Given the description of an element on the screen output the (x, y) to click on. 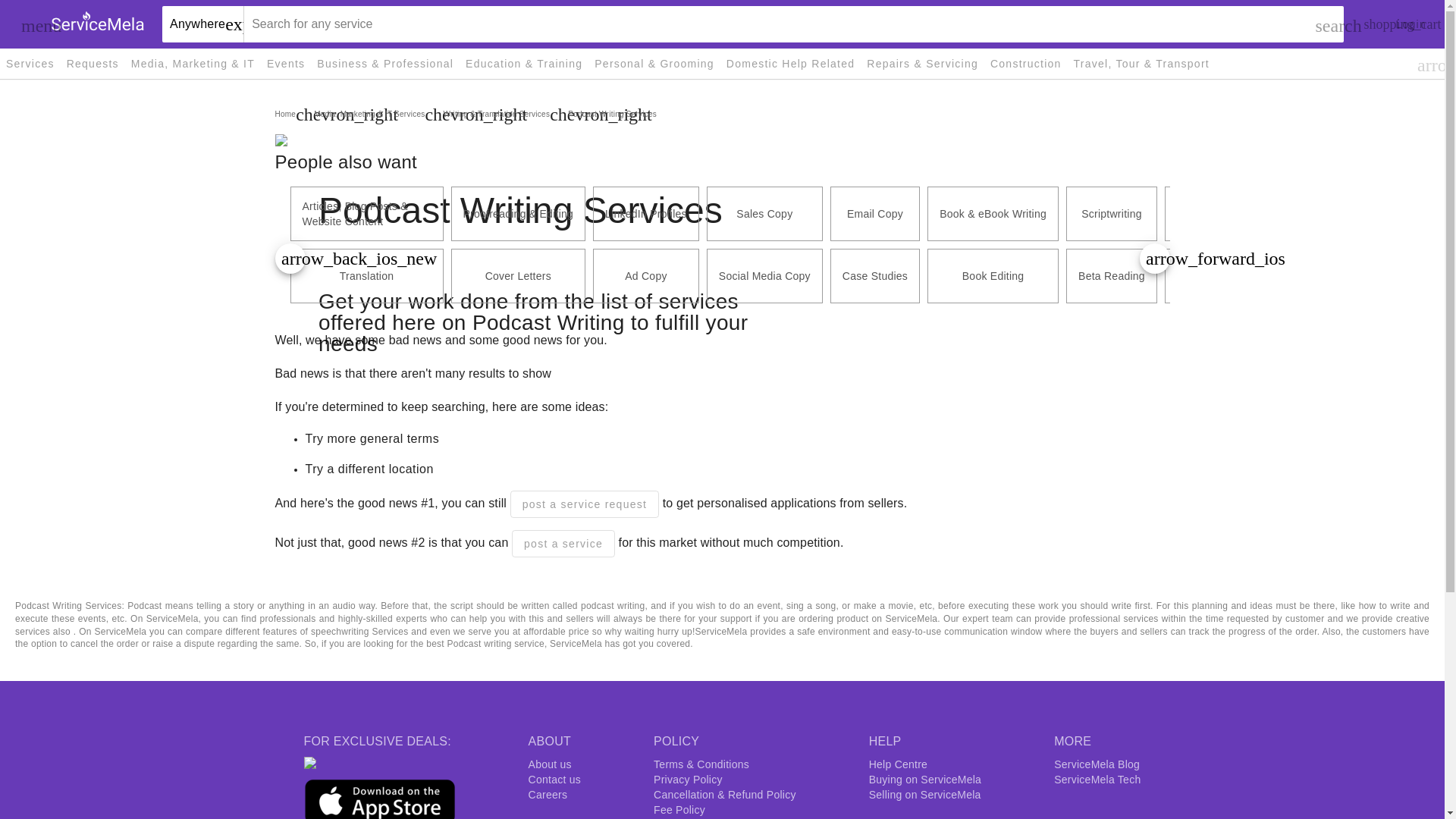
Construction (1025, 62)
menu (29, 23)
Services (30, 62)
Domestic Help Related (790, 62)
Services (30, 62)
Events (285, 62)
Requests (93, 62)
Events (285, 62)
Login (1410, 23)
Requests (93, 62)
Domestic Help Related (790, 62)
search (1324, 23)
Construction (1025, 62)
